Given the description of an element on the screen output the (x, y) to click on. 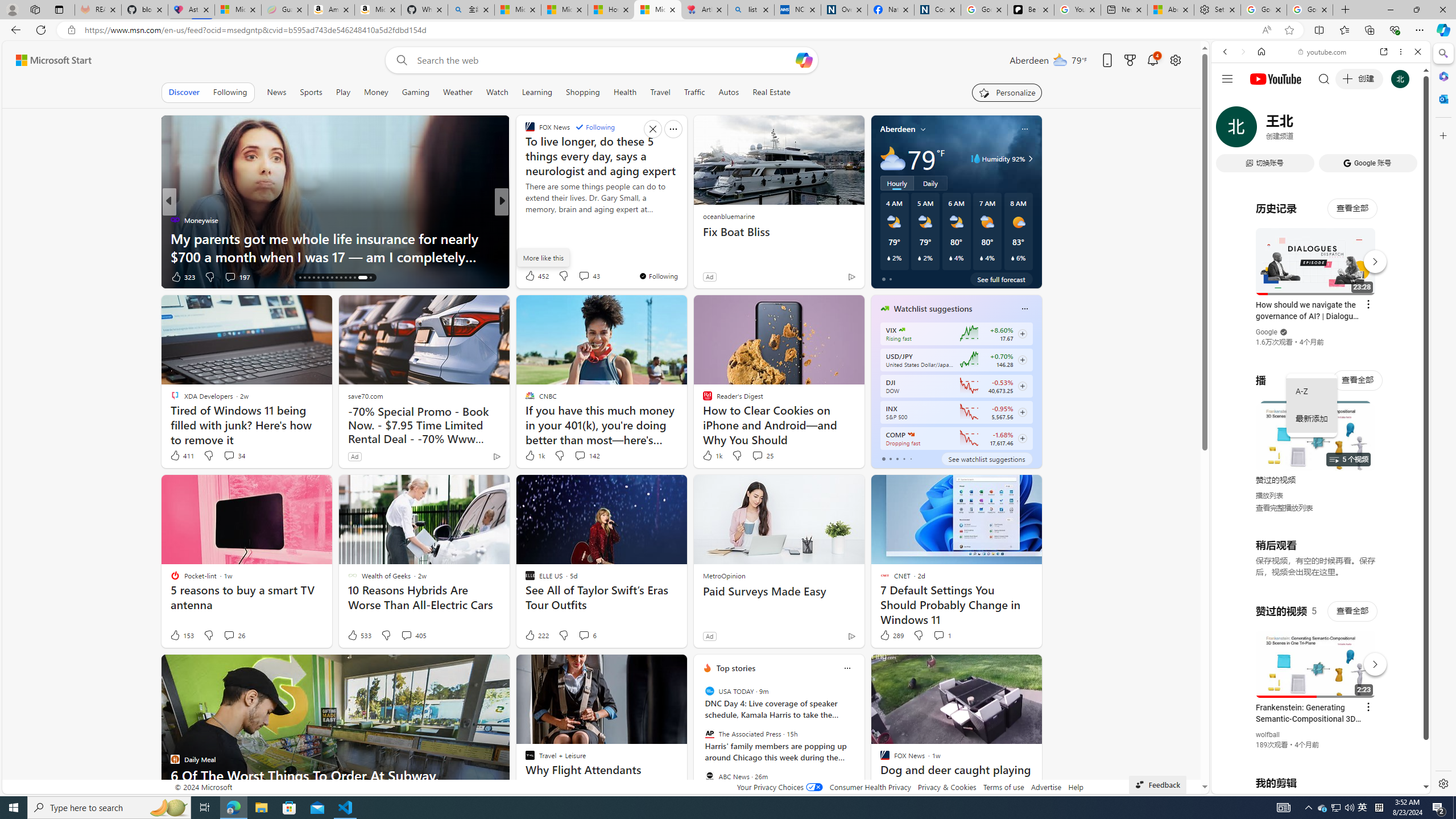
289 Like (890, 634)
533 Like (358, 634)
save70.com (364, 395)
323 Like (182, 276)
AutomationID: tab-19 (313, 277)
View comments 34 Comment (233, 455)
Humidity 92% (1028, 158)
Gaming (415, 92)
Real Estate (771, 92)
